Given the description of an element on the screen output the (x, y) to click on. 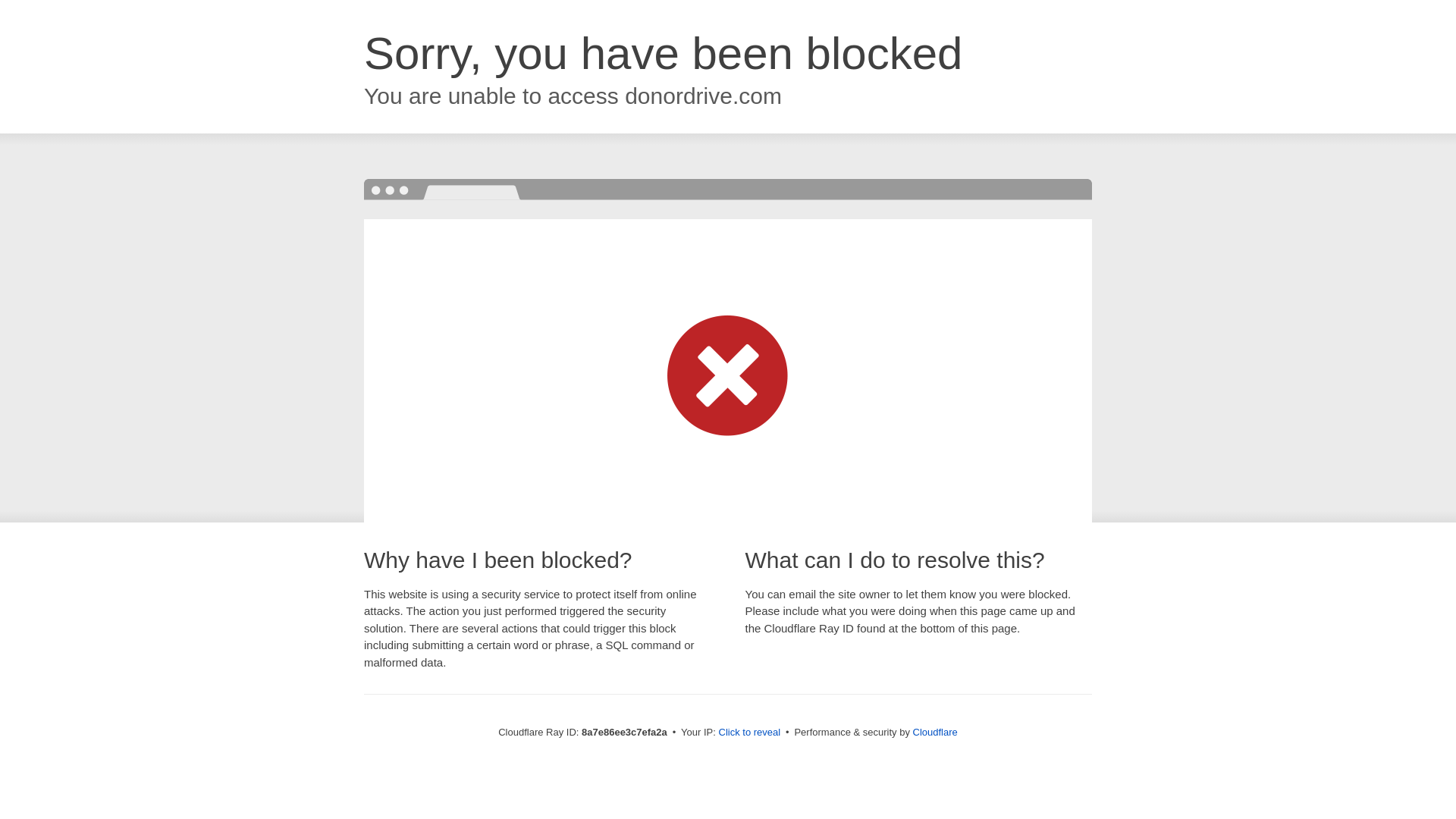
Cloudflare (935, 731)
Click to reveal (749, 732)
